Given the description of an element on the screen output the (x, y) to click on. 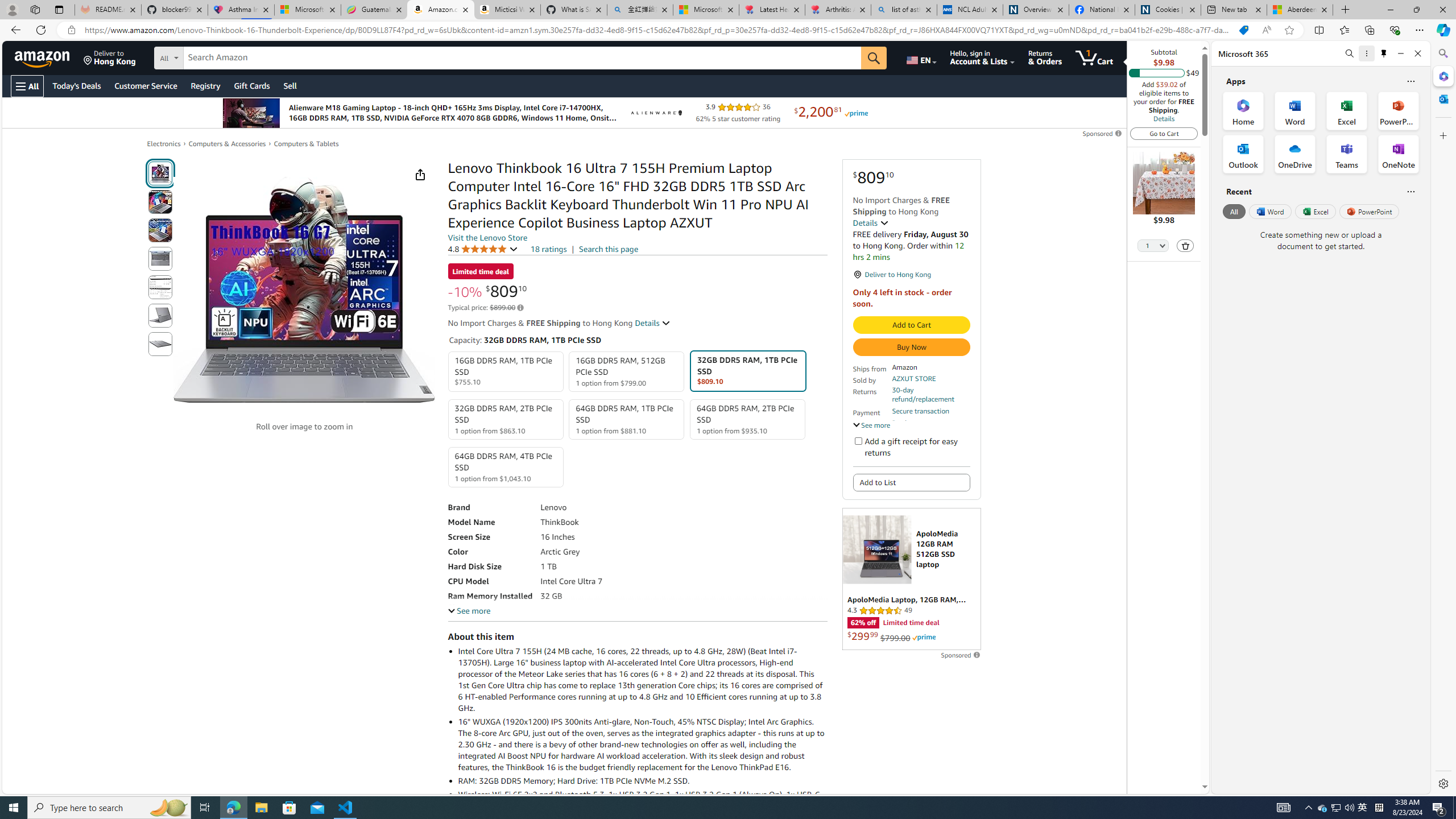
18 ratings (547, 248)
Learn more about Amazon pricing and savings (520, 307)
16GB DDR5 RAM, 512GB PCIe SSD 1 option from $799.00 (626, 371)
Product support included (930, 427)
Excel (1315, 210)
Choose a language for shopping. (920, 57)
Add to List (911, 482)
Computers & Tablets (306, 144)
